Given the description of an element on the screen output the (x, y) to click on. 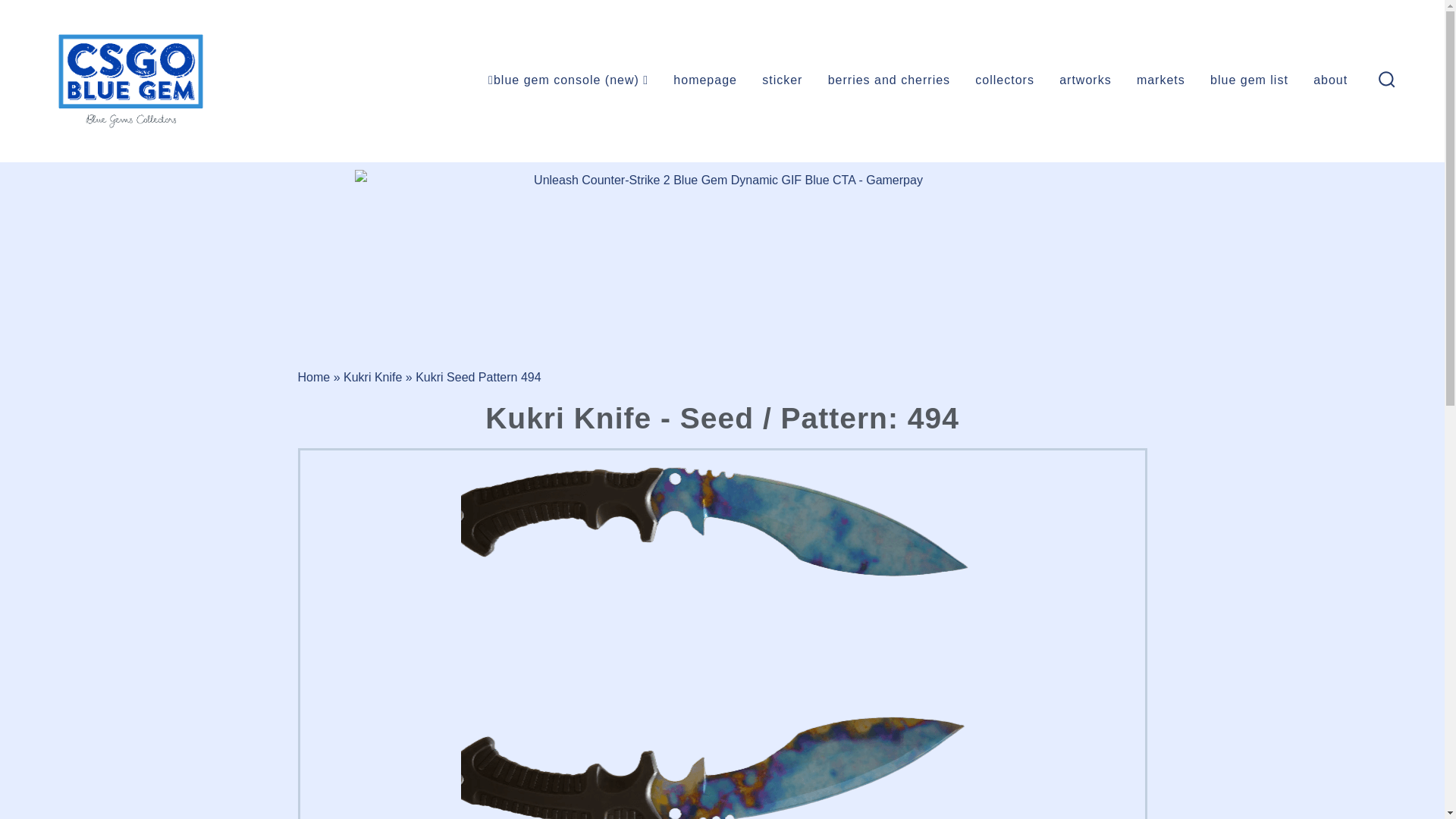
collectors (1004, 80)
artworks (1084, 80)
markets (1161, 80)
blue gem list (1248, 80)
about (1330, 80)
Kukri Knife (372, 376)
homepage (704, 80)
Home (313, 376)
berries and cherries (889, 80)
sticker (781, 80)
